Given the description of an element on the screen output the (x, y) to click on. 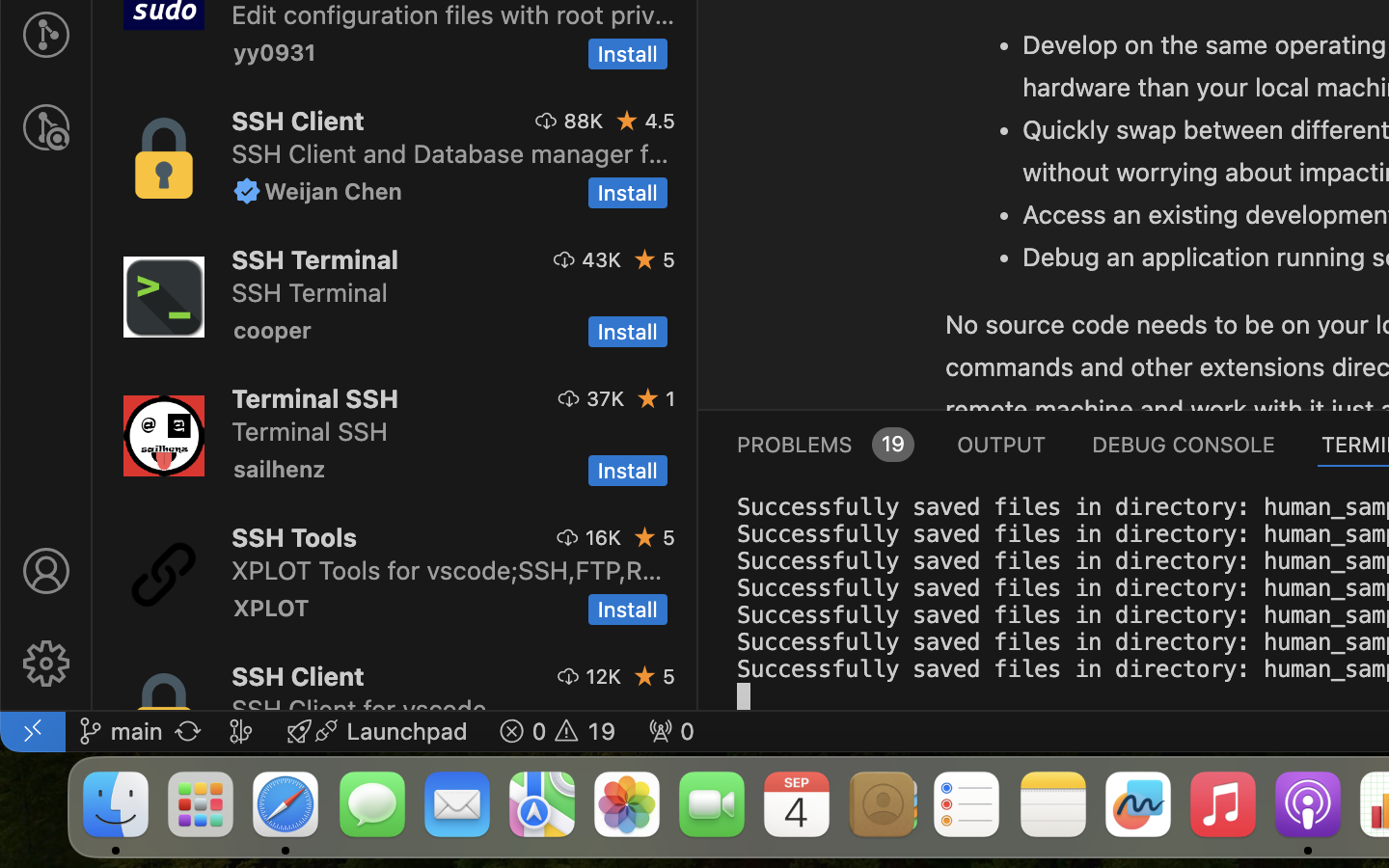
main  Element type: AXButton (120, 730)
88K Element type: AXStaticText (583, 120)
 Element type: AXStaticText (546, 120)
0 PROBLEMS 19 Element type: AXRadioButton (824, 443)
cooper Element type: AXStaticText (272, 329)
